Given the description of an element on the screen output the (x, y) to click on. 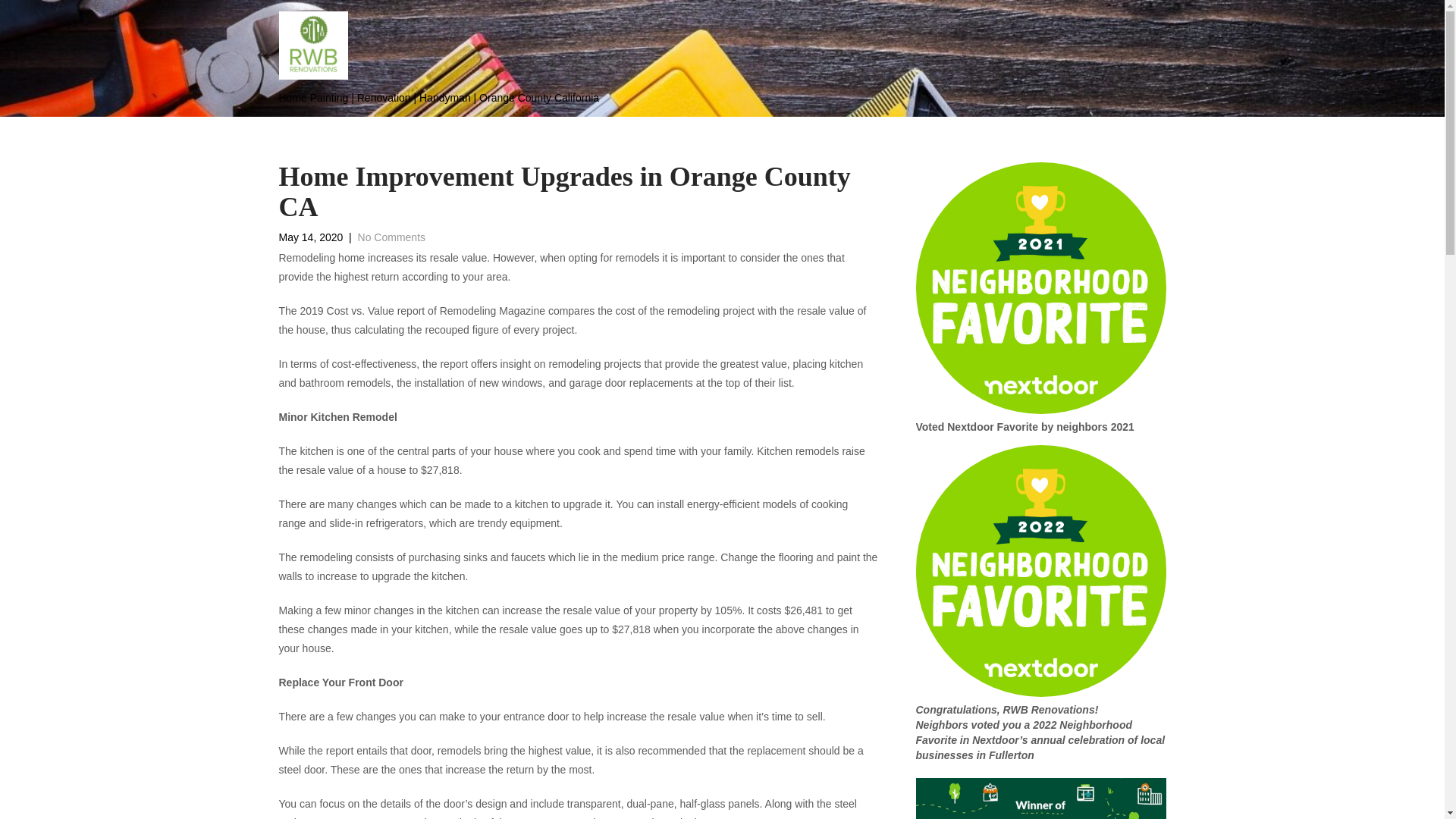
No Comments (391, 236)
